Given the description of an element on the screen output the (x, y) to click on. 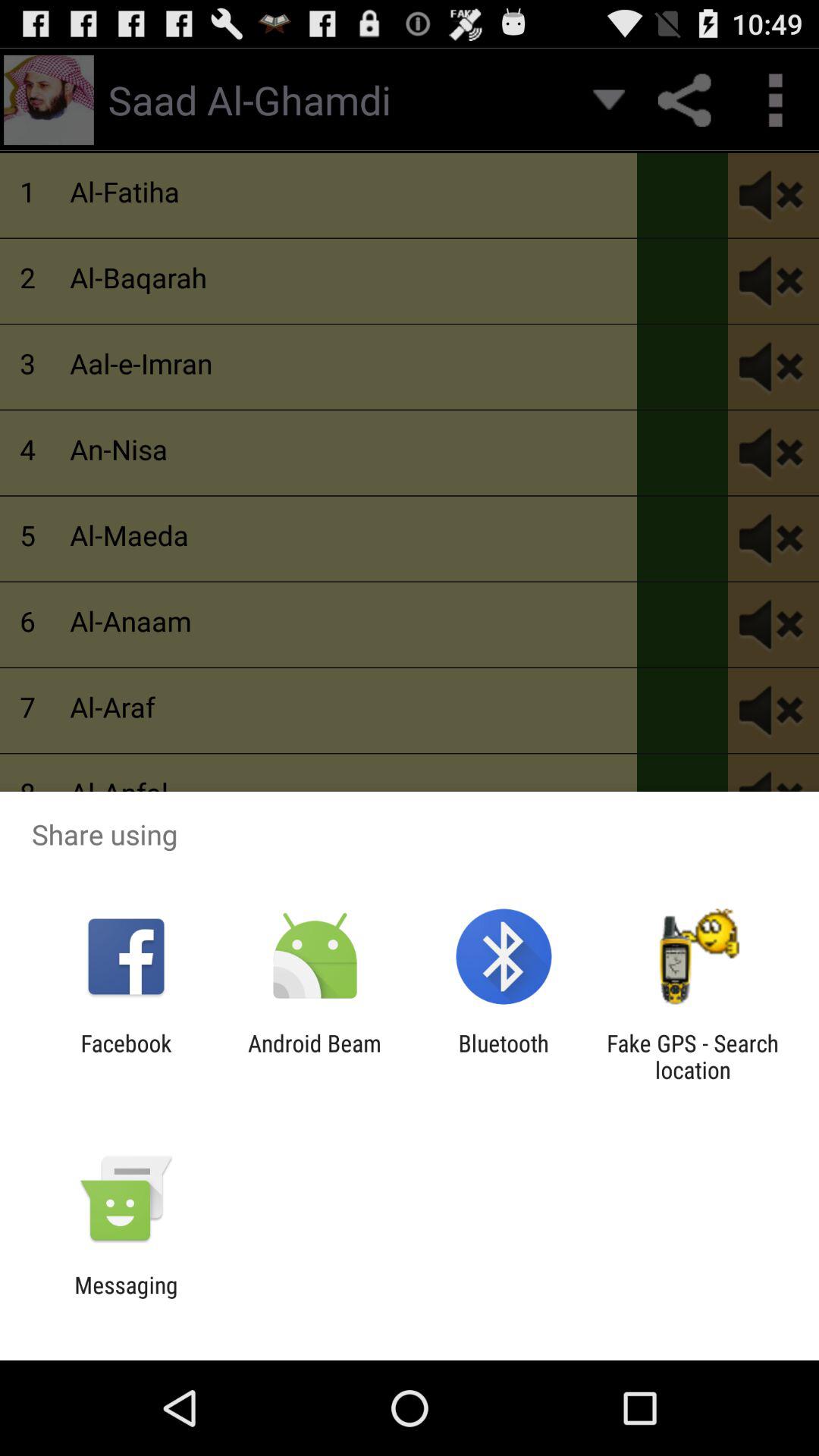
launch icon to the left of android beam app (125, 1056)
